Given the description of an element on the screen output the (x, y) to click on. 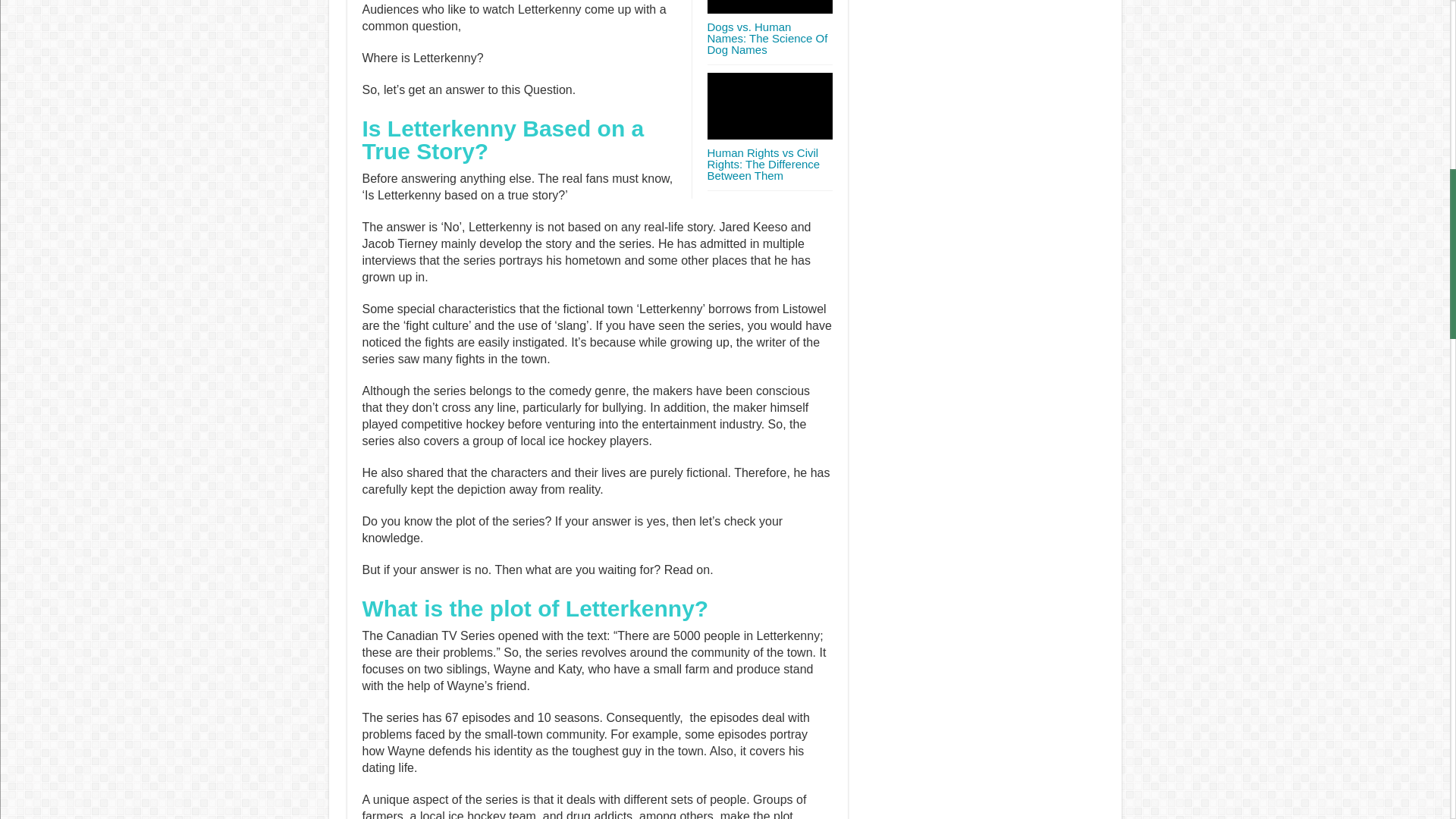
Dogs vs. Human Names: The Science Of Dog Names  (766, 38)
Scroll To Top (1427, 60)
Human Rights vs Civil Rights: The Difference Between Them (762, 163)
